Given the description of an element on the screen output the (x, y) to click on. 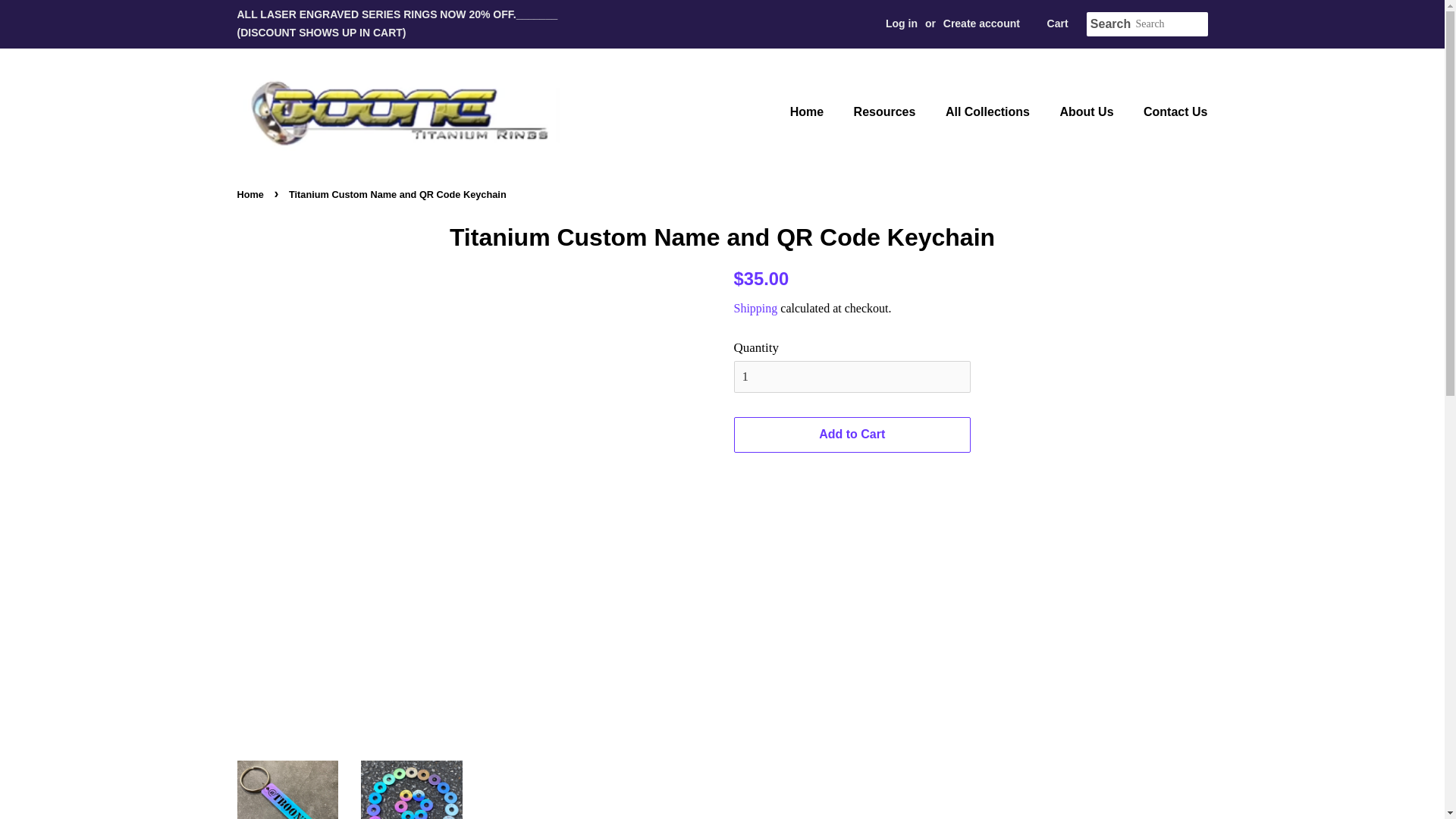
All Collections (989, 111)
Cart (1057, 24)
About Us (1088, 111)
Create account (981, 23)
Contact Us (1169, 111)
1 (852, 377)
Log in (901, 23)
Resources (887, 111)
Search (1110, 24)
Home (250, 194)
